Given the description of an element on the screen output the (x, y) to click on. 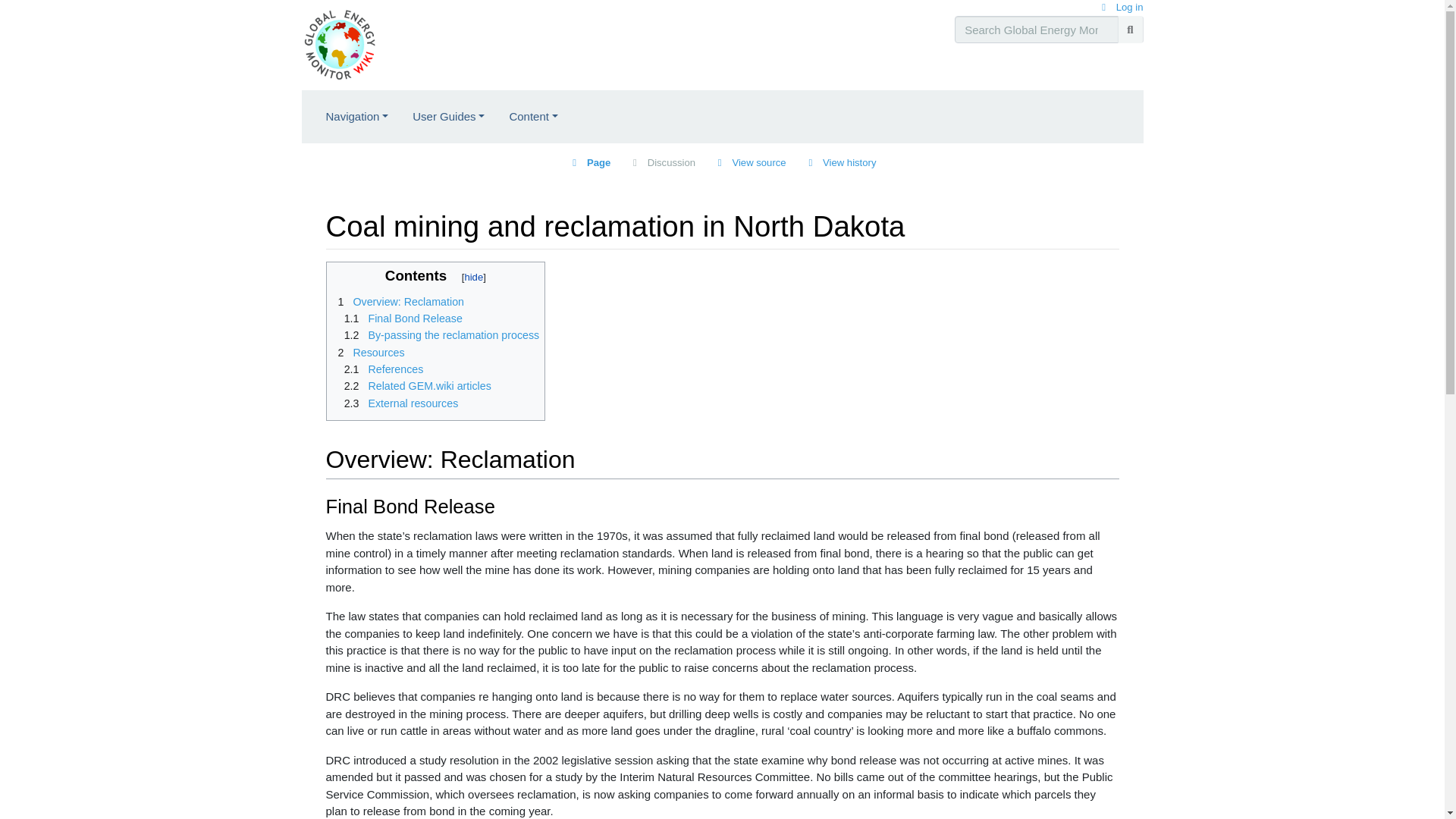
Go (1130, 29)
User Guides (448, 116)
1.1 Final Bond Release (400, 318)
Go to a page with this exact name if it exists (1130, 29)
View source (749, 162)
2.2 Related GEM.wiki articles (414, 386)
View history (840, 162)
Navigation (357, 116)
Visit the main page (339, 42)
1.2 By-passing the reclamation process (438, 335)
2 Resources (367, 352)
Discussion (661, 162)
1 Overview: Reclamation (397, 301)
Page (590, 162)
Log in (1119, 7)
